Given the description of an element on the screen output the (x, y) to click on. 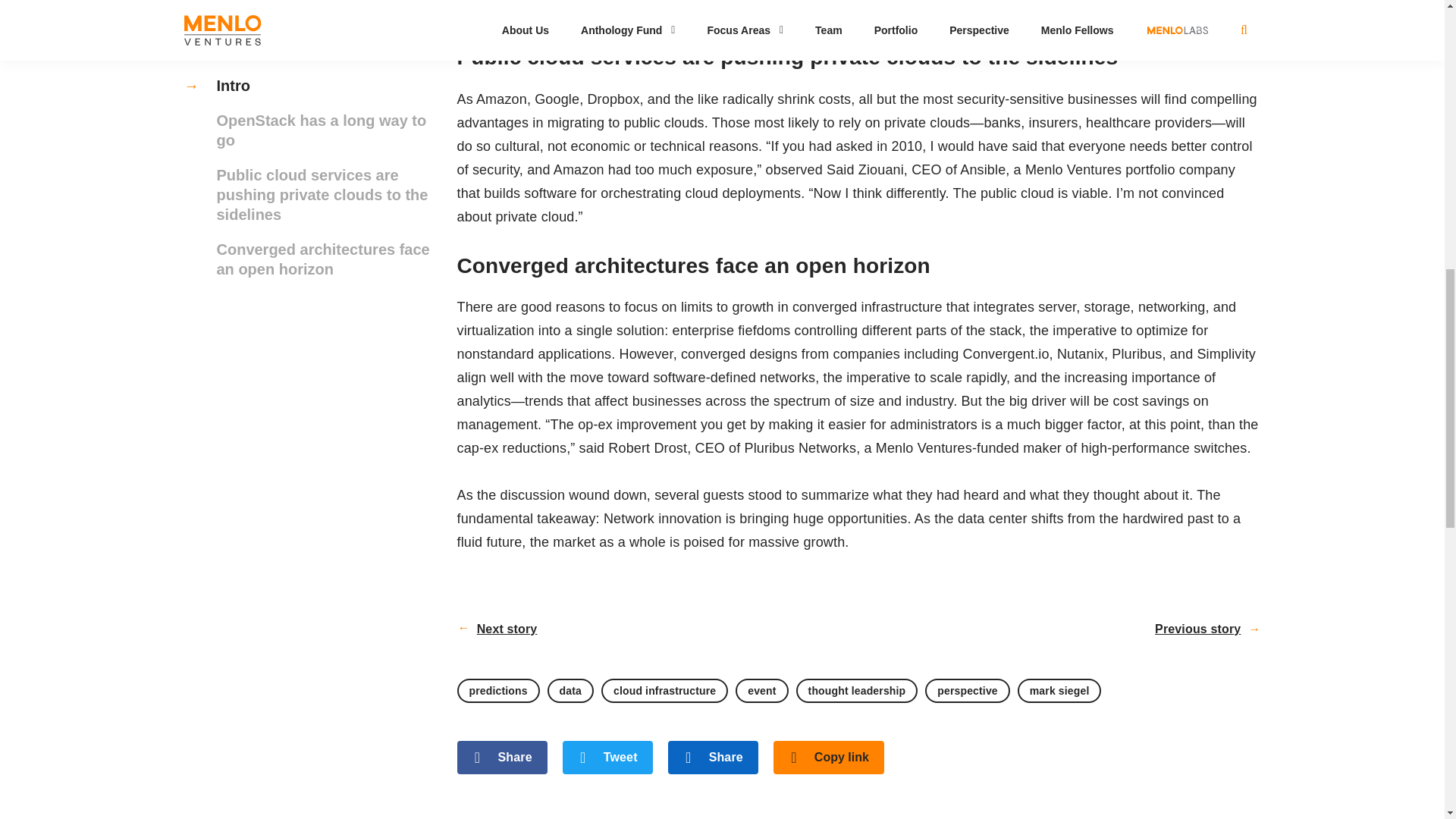
perspective (966, 690)
data (570, 690)
thought leadership (857, 690)
Tweet (607, 757)
predictions (497, 690)
event (761, 690)
Share (502, 757)
cloud infrastructure (664, 690)
mark siegel (1059, 690)
